Given the description of an element on the screen output the (x, y) to click on. 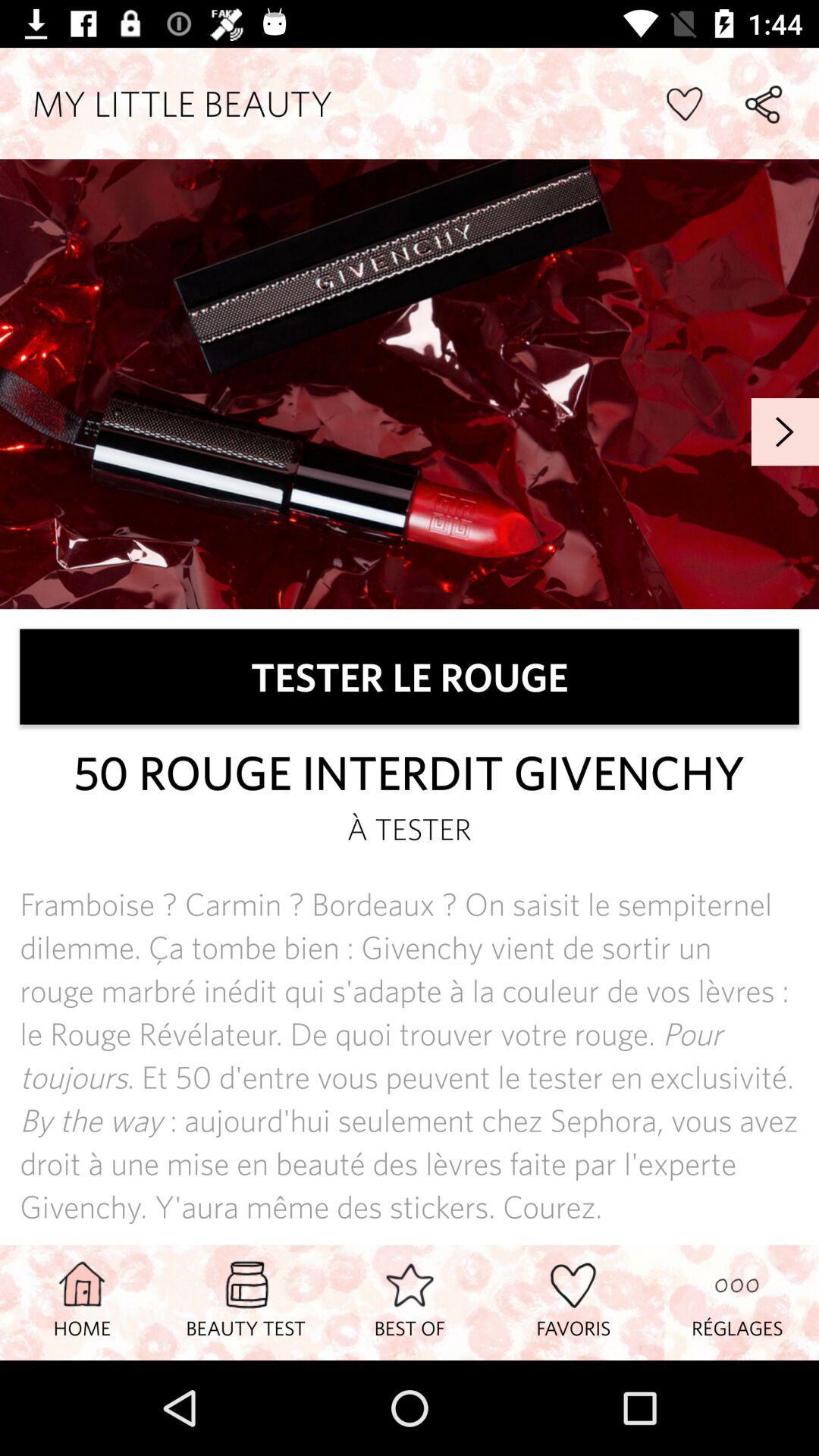
tap tester le rouge item (409, 676)
